Given the description of an element on the screen output the (x, y) to click on. 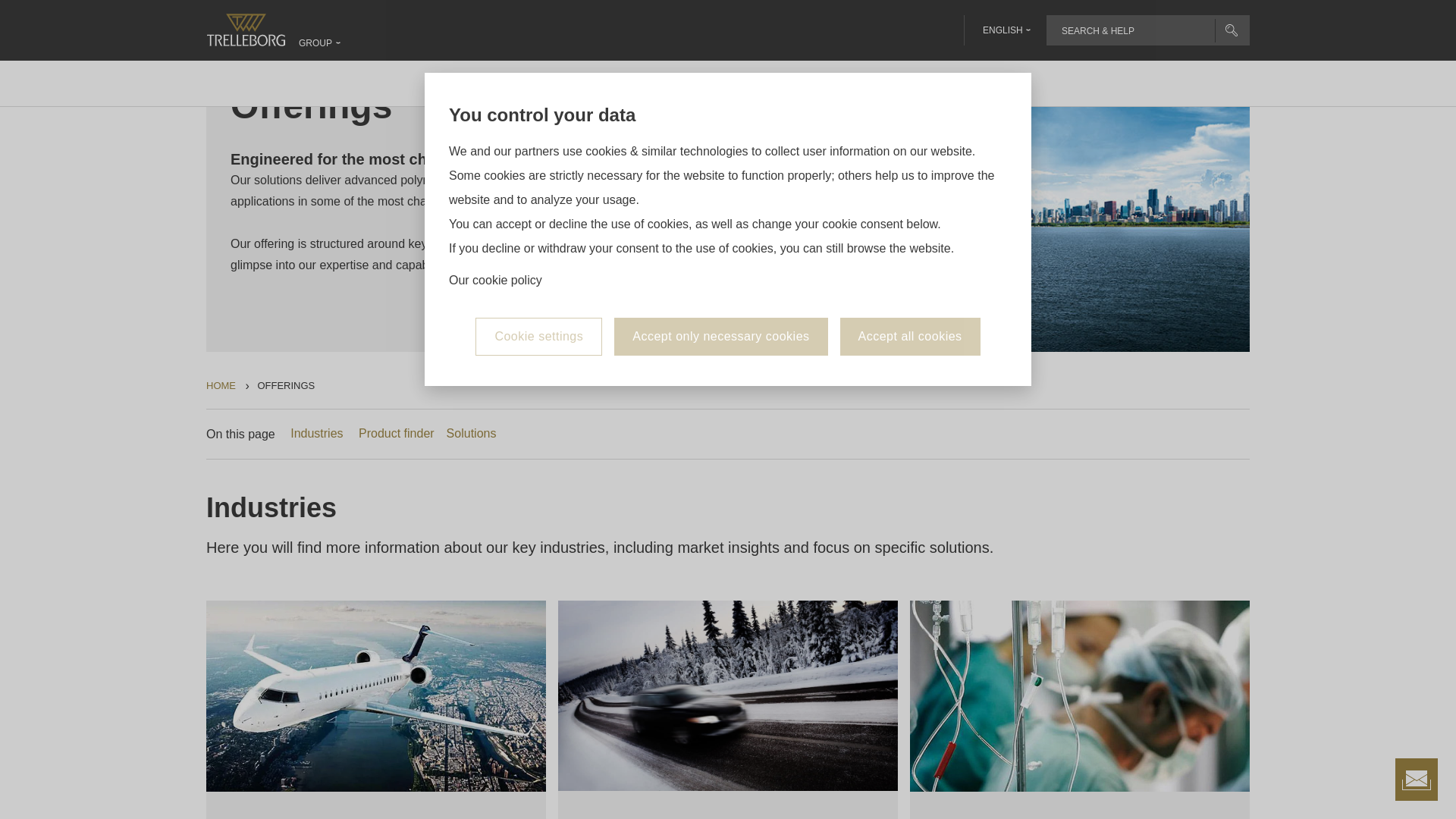
Cookie settings (539, 230)
Accept only necessary cookies (720, 230)
Accept all cookies (909, 230)
Our cookie policy (494, 174)
